Given the description of an element on the screen output the (x, y) to click on. 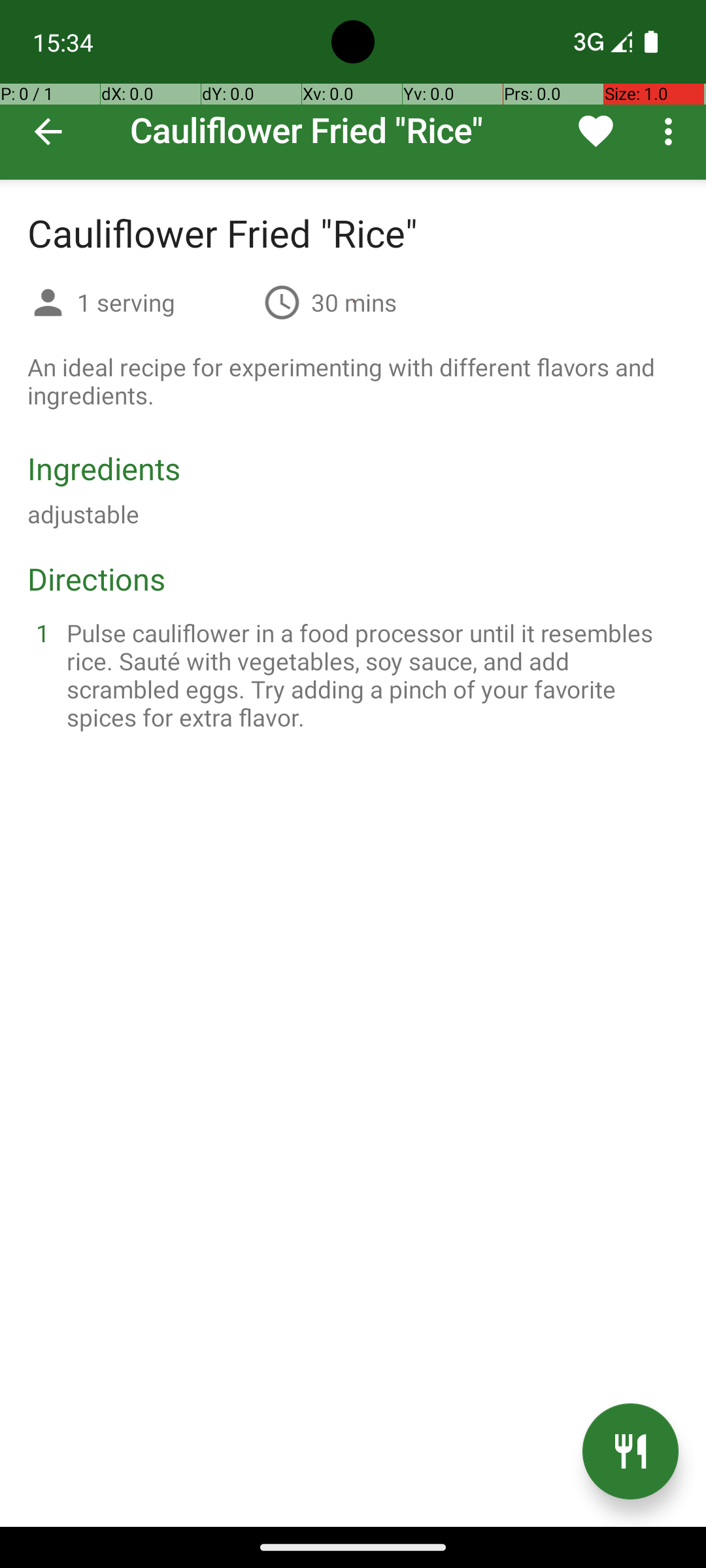
Cauliflower Fried "Rice" Element type: android.widget.FrameLayout (353, 89)
30 mins Element type: android.widget.TextView (353, 301)
adjustable Element type: android.widget.TextView (83, 513)
Pulse cauliflower in a food processor until it resembles rice. Sauté with vegetables, soy sauce, and add scrambled eggs. Try adding a pinch of your favorite spices for extra flavor. Element type: android.widget.TextView (368, 674)
